Given the description of an element on the screen output the (x, y) to click on. 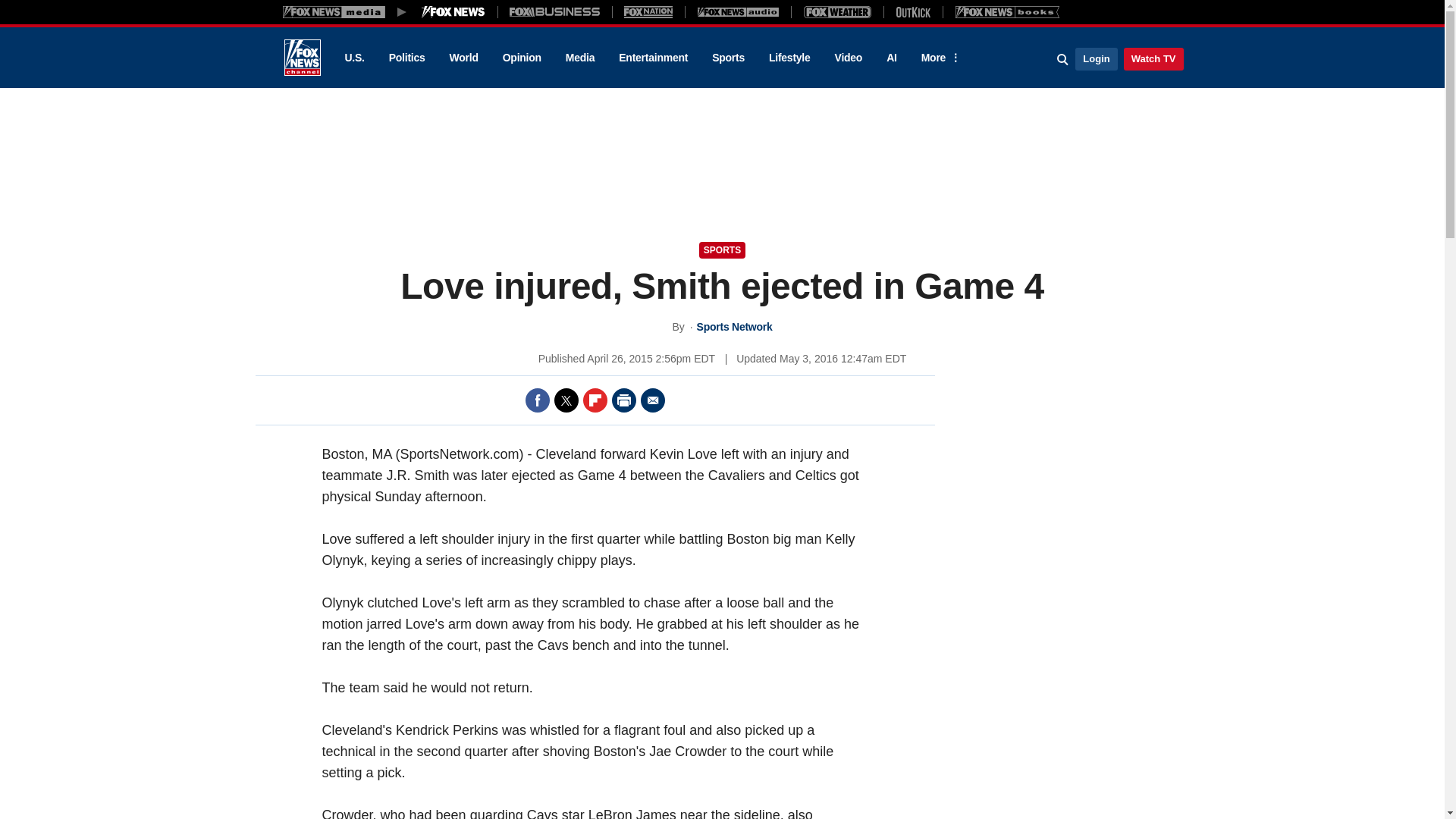
Sports (728, 57)
More (938, 57)
Fox News Audio (737, 11)
Watch TV (1153, 58)
Entertainment (653, 57)
Login (1095, 58)
Video (848, 57)
AI (891, 57)
Outkick (912, 11)
Opinion (521, 57)
Fox Nation (648, 11)
Politics (407, 57)
Lifestyle (789, 57)
Fox Business (554, 11)
Media (580, 57)
